Given the description of an element on the screen output the (x, y) to click on. 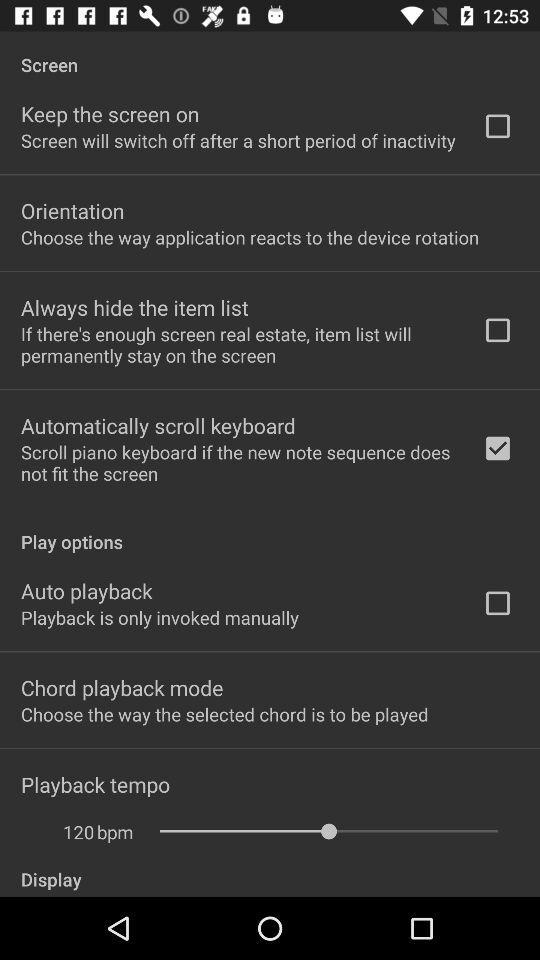
open always hide the app (134, 307)
